Given the description of an element on the screen output the (x, y) to click on. 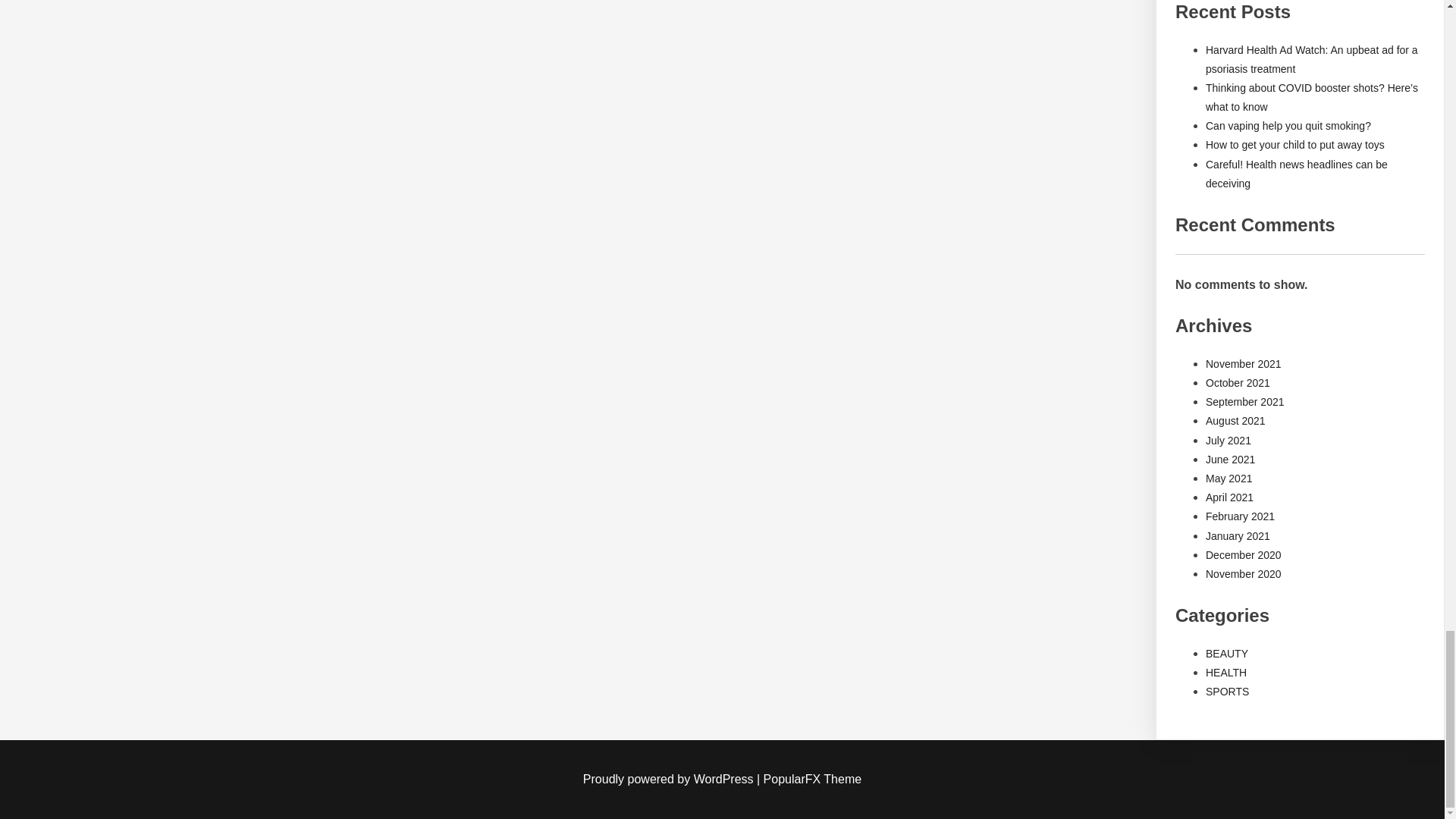
November 2020 (1243, 573)
PopularFX Theme (811, 779)
May 2021 (1228, 478)
August 2021 (1235, 420)
February 2021 (1240, 516)
November 2021 (1243, 363)
Proudly powered by WordPress (670, 779)
January 2021 (1237, 535)
September 2021 (1244, 401)
April 2021 (1229, 497)
SPORTS (1227, 691)
Can vaping help you quit smoking? (1288, 125)
How to get your child to put away toys (1294, 144)
June 2021 (1230, 459)
